Given the description of an element on the screen output the (x, y) to click on. 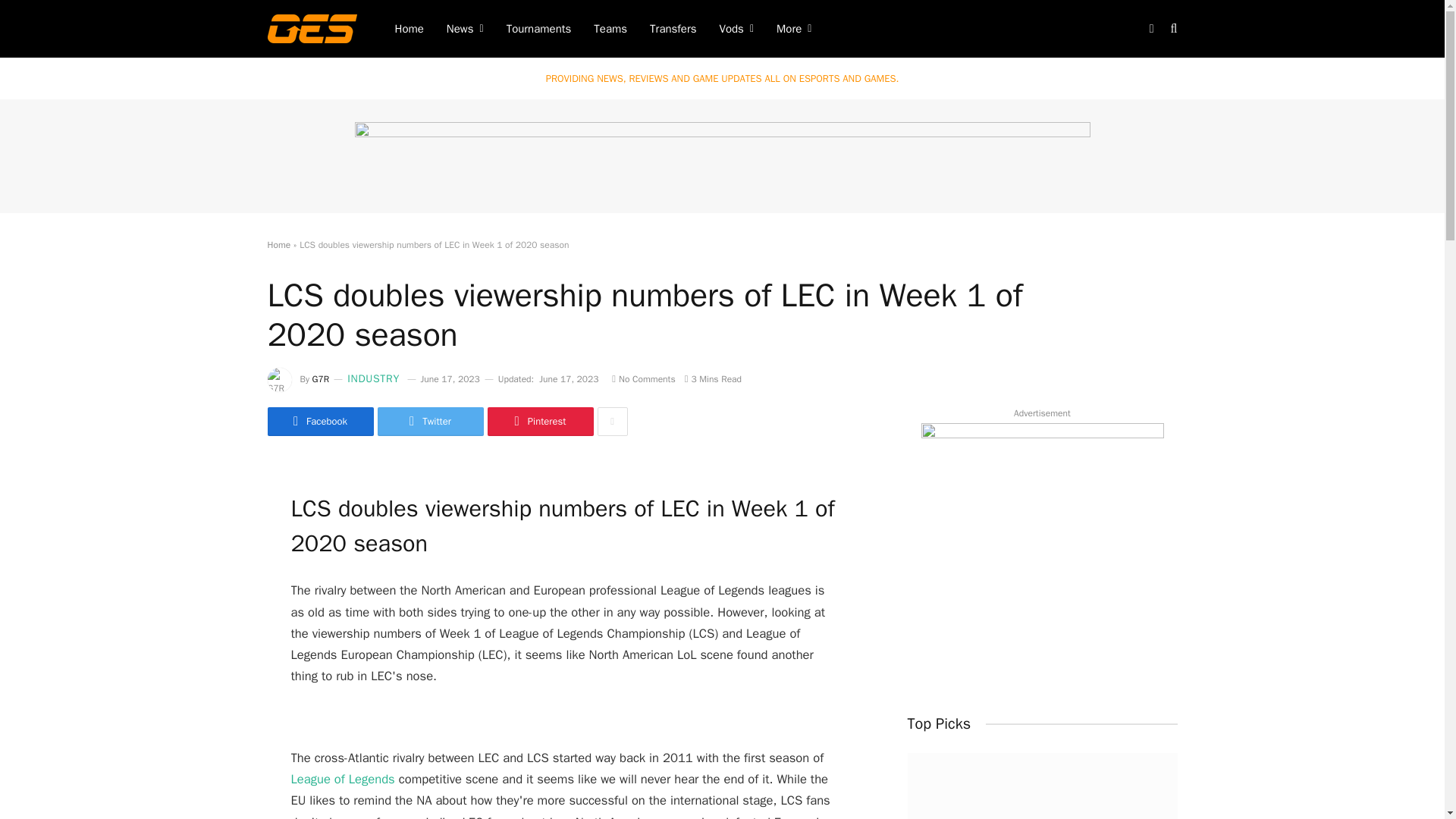
Share on Facebook (319, 421)
Esports Guides and Esports News (311, 28)
Posts by G7R (321, 378)
Switch to Dark Design - easier on eyes. (1151, 28)
